Given the description of an element on the screen output the (x, y) to click on. 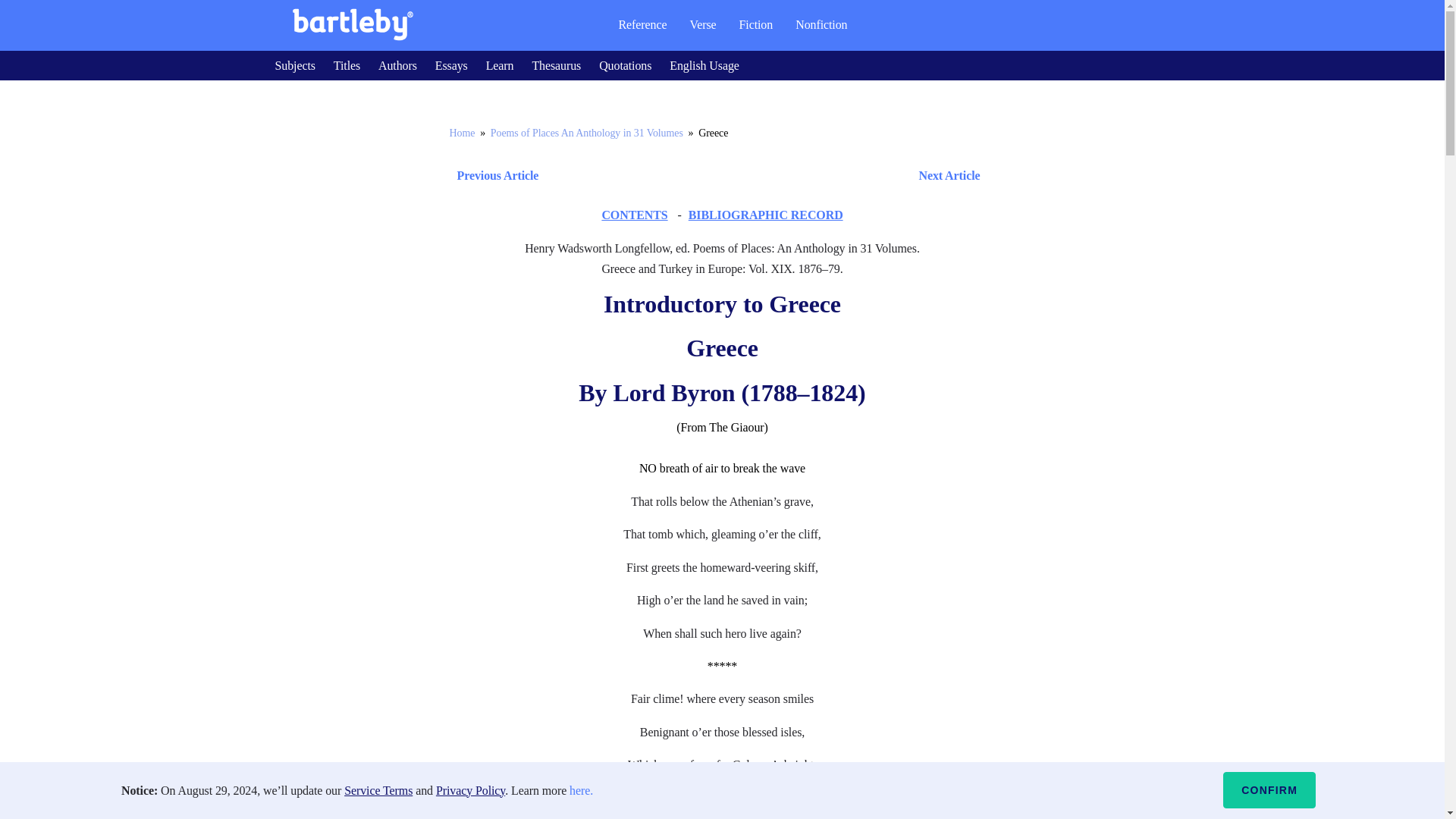
Verse (702, 24)
Quotations (624, 65)
Home (461, 132)
Next Article (766, 175)
Titles (346, 65)
Fiction (756, 24)
Poems of Places An Anthology in 31 Volumes (586, 132)
Reference (642, 24)
CONTENTS (633, 214)
Thesaurus (555, 65)
Nonfiction (821, 24)
Previous Article (493, 175)
Learn (499, 65)
Subjects (294, 65)
BIBLIOGRAPHIC RECORD (765, 214)
